Given the description of an element on the screen output the (x, y) to click on. 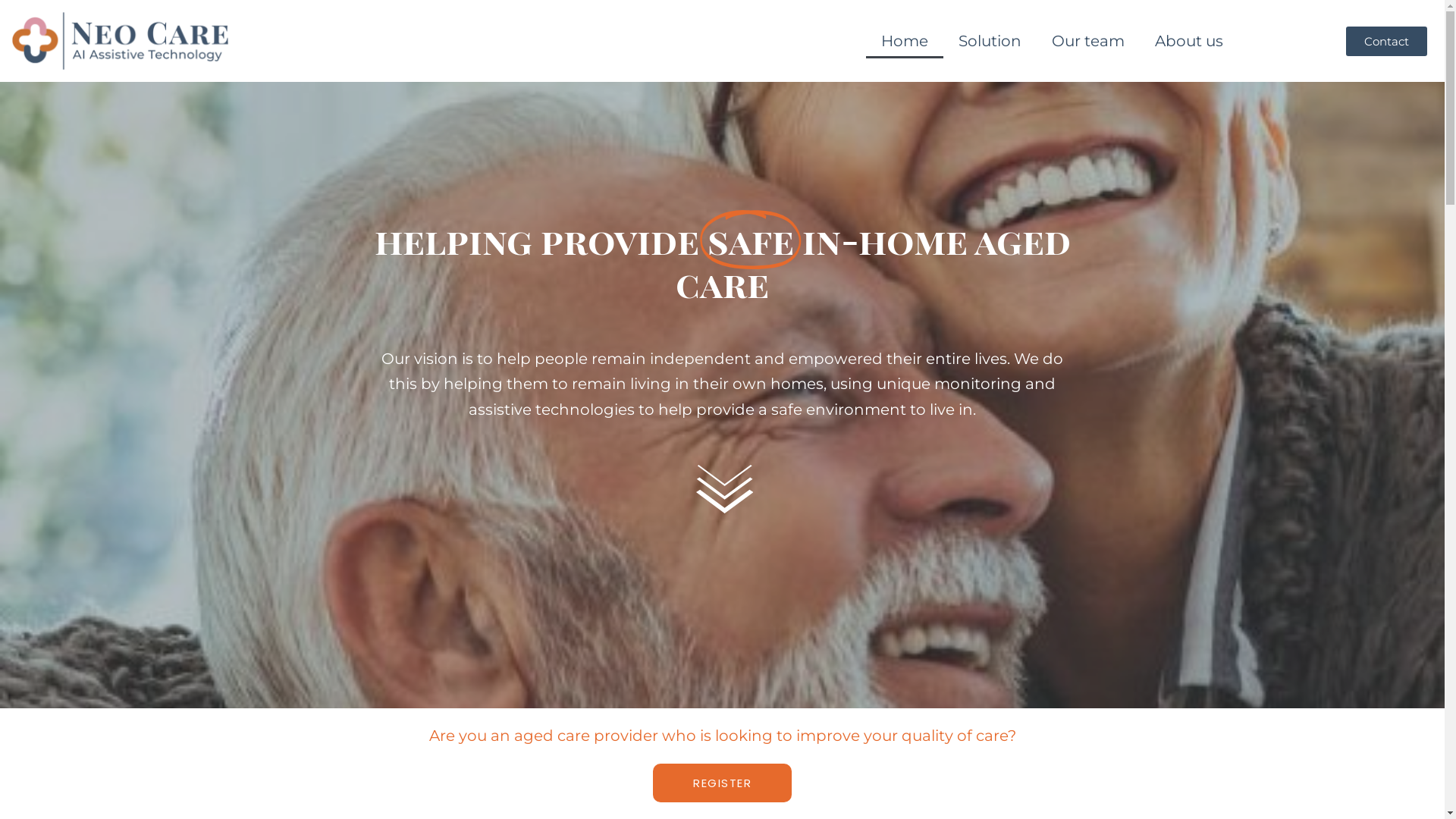
Contact Element type: text (1386, 41)
Our team Element type: text (1087, 40)
Solution Element type: text (989, 40)
Home Element type: text (904, 40)
About us Element type: text (1188, 40)
REGISTER Element type: text (721, 782)
